Given the description of an element on the screen output the (x, y) to click on. 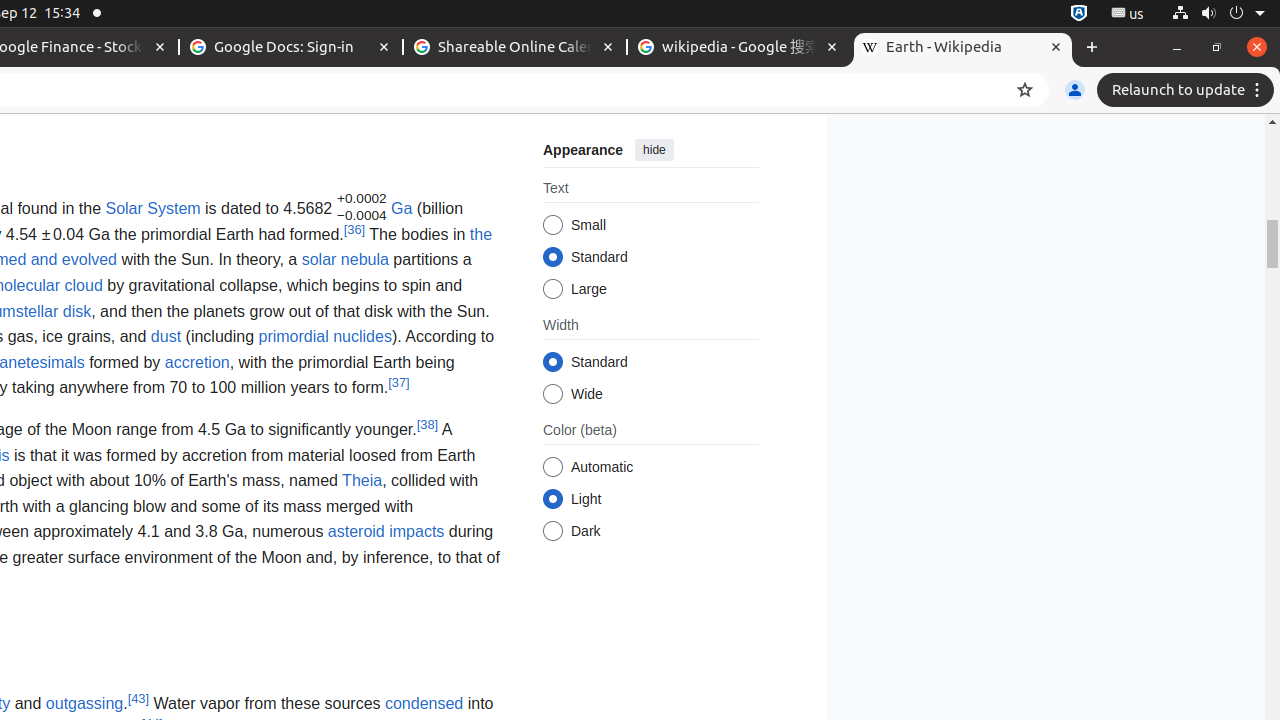
wikipedia - Google 搜索 - Memory usage - 85.9 MB Element type: page-tab (739, 47)
[37] Element type: link (399, 382)
solar nebula Element type: link (345, 260)
Ga Element type: link (402, 208)
Relaunch to update Element type: push-button (1188, 90)
